Given the description of an element on the screen output the (x, y) to click on. 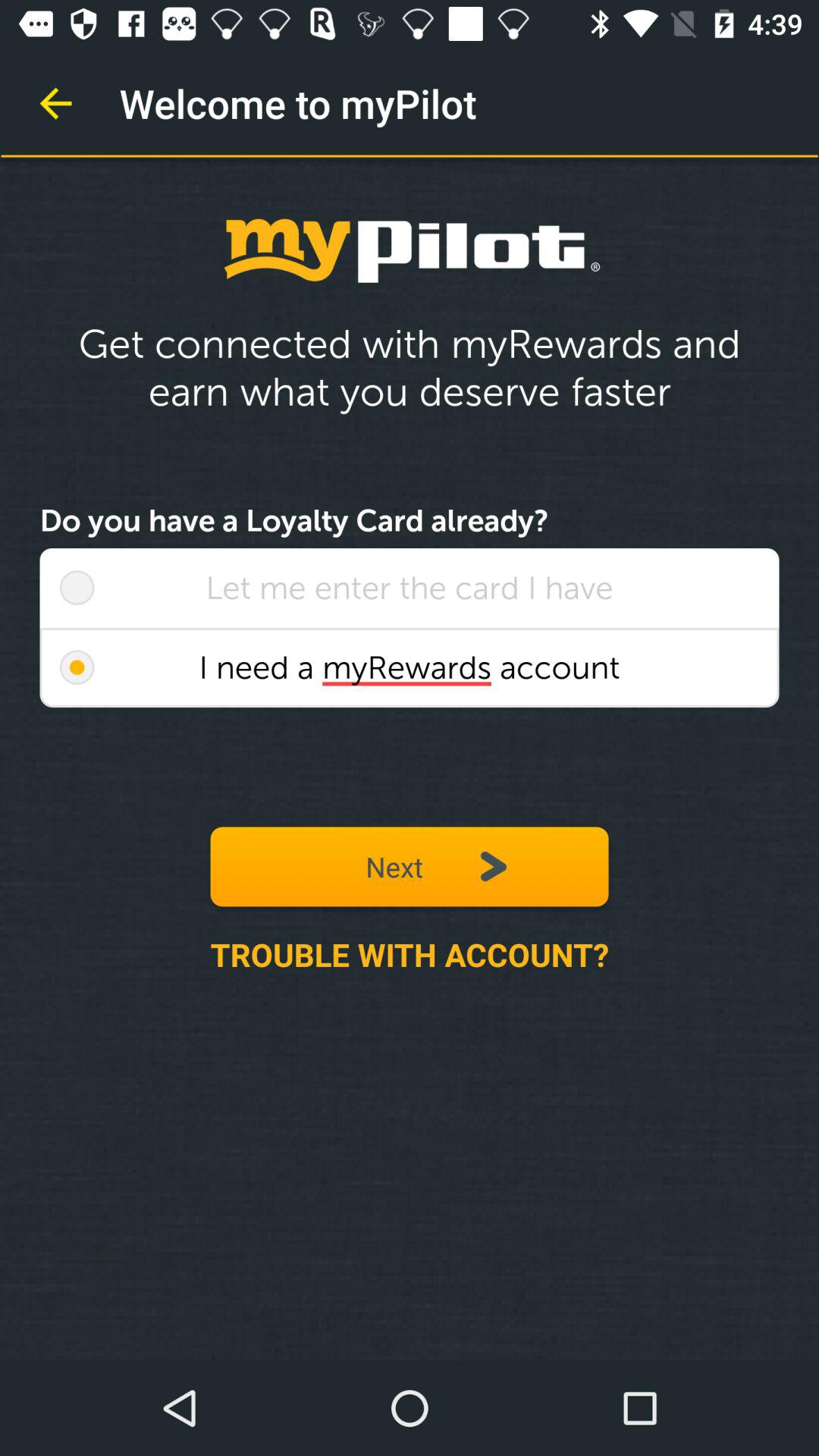
flip to next (409, 866)
